Given the description of an element on the screen output the (x, y) to click on. 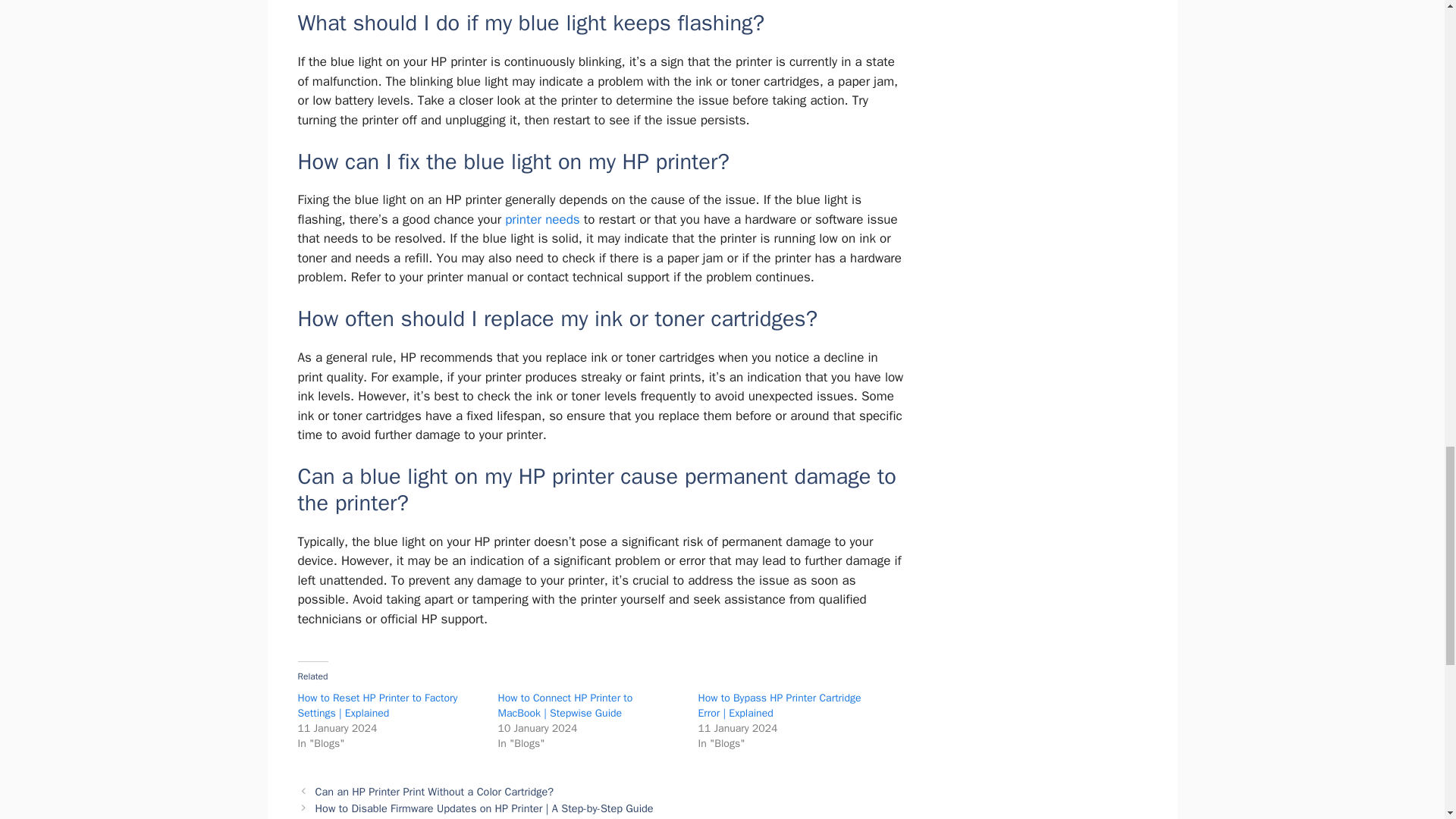
printer needs (542, 219)
Can an HP Printer Print Without a Color Cartridge? (434, 791)
